Given the description of an element on the screen output the (x, y) to click on. 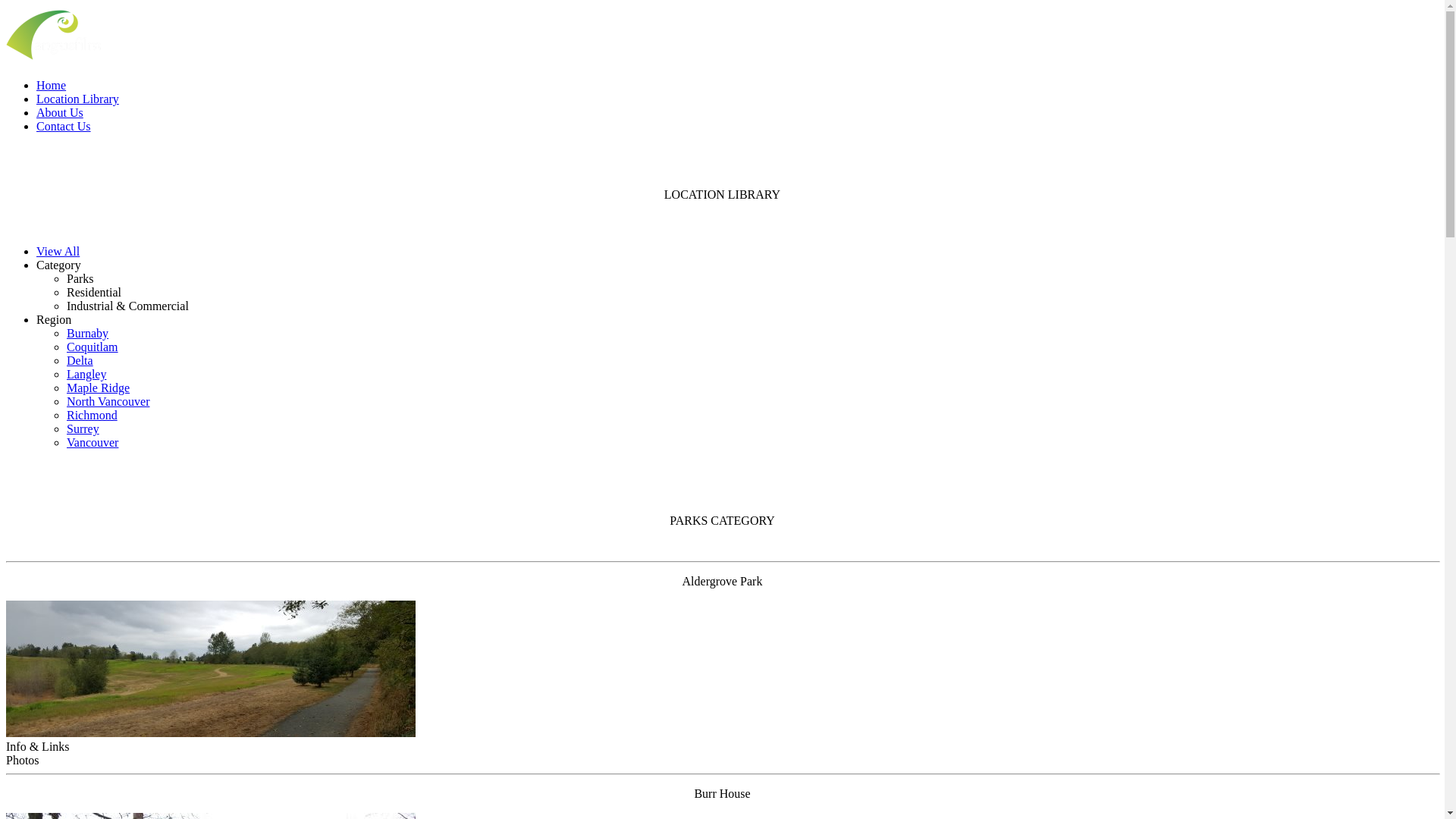
Richmond Element type: text (91, 414)
Location Library Element type: text (77, 98)
Residential Element type: text (93, 291)
Vancouver Element type: text (92, 442)
Langley Element type: text (86, 373)
About Us Element type: text (59, 112)
Coquitlam Element type: text (92, 346)
Maple Ridge Element type: text (97, 387)
Surrey Element type: text (82, 428)
Home Element type: text (50, 84)
North Vancouver Element type: text (107, 401)
Contact Us Element type: text (63, 125)
Parks Element type: text (80, 278)
Delta Element type: text (79, 360)
View All Element type: text (57, 250)
Burnaby Element type: text (87, 332)
Industrial & Commercial Element type: text (127, 305)
Region Element type: text (53, 319)
Category Element type: text (58, 264)
